Given the description of an element on the screen output the (x, y) to click on. 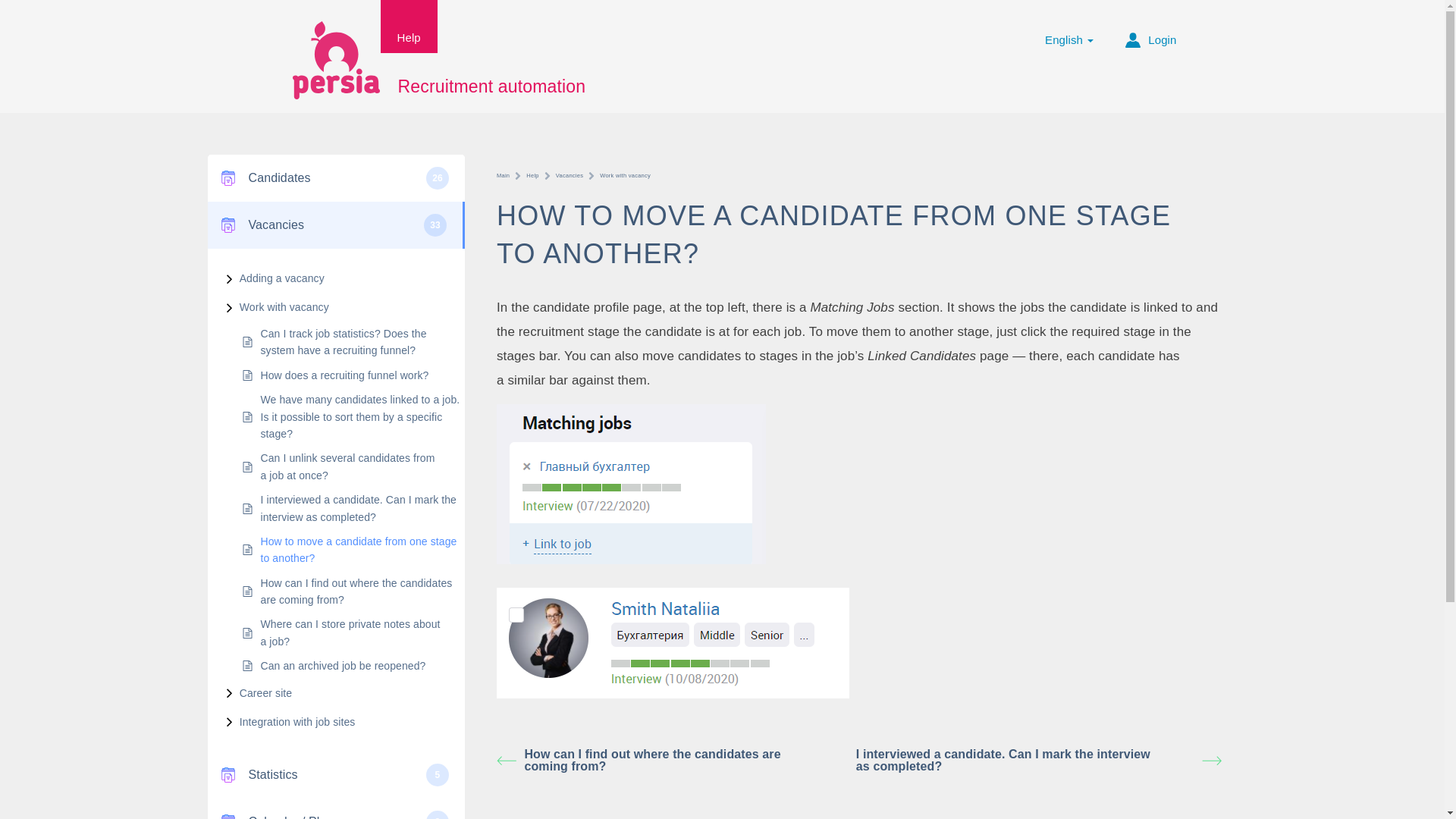
English (1069, 27)
Help (409, 26)
English (1069, 27)
Persia (335, 58)
Login (1142, 27)
Login (1142, 27)
